Given the description of an element on the screen output the (x, y) to click on. 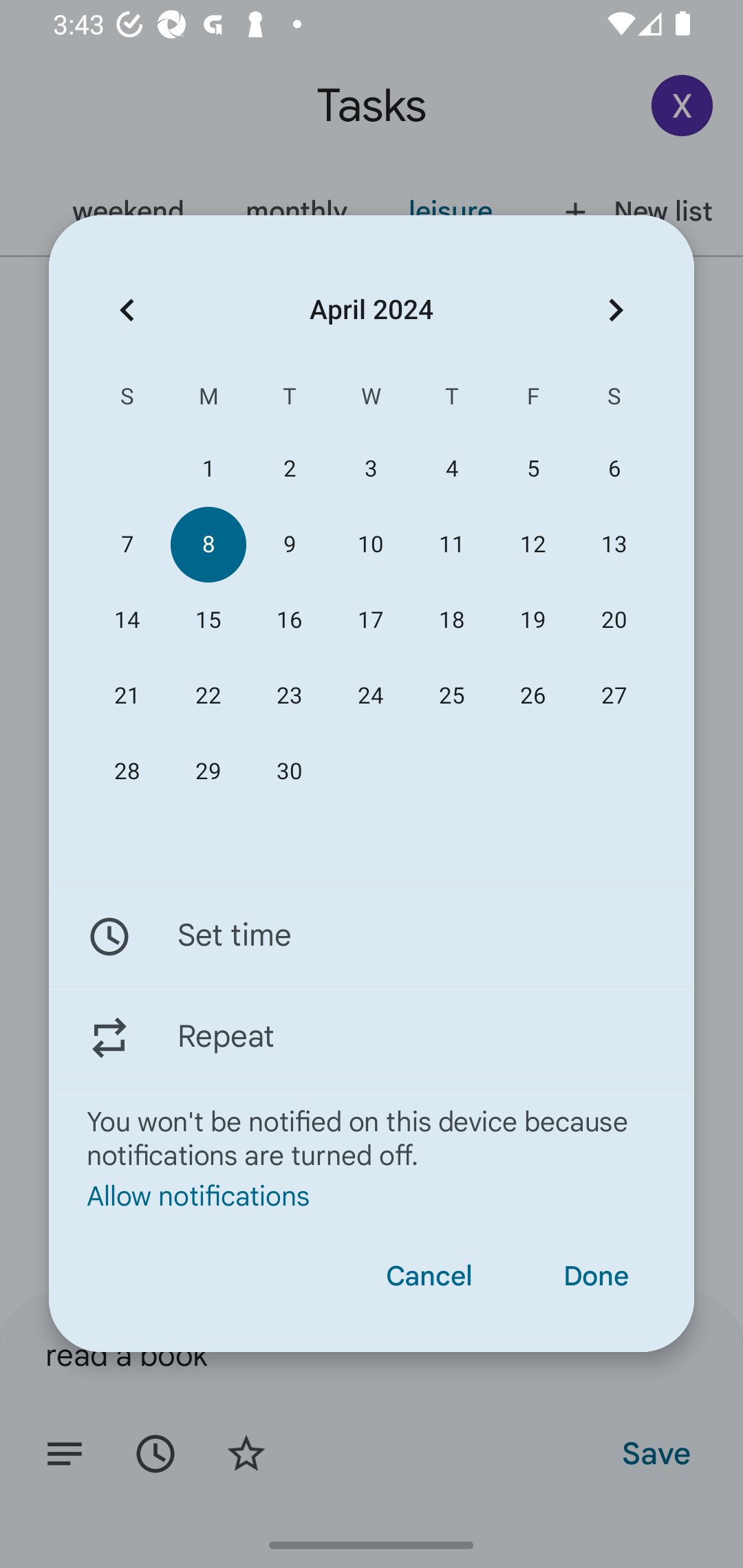
Previous month (126, 309)
Next month (615, 309)
1 01 April 2024 (207, 468)
2 02 April 2024 (288, 468)
3 03 April 2024 (370, 468)
4 04 April 2024 (451, 468)
5 05 April 2024 (532, 468)
6 06 April 2024 (613, 468)
7 07 April 2024 (126, 543)
8 08 April 2024 (207, 543)
9 09 April 2024 (288, 543)
10 10 April 2024 (370, 543)
11 11 April 2024 (451, 543)
12 12 April 2024 (532, 543)
13 13 April 2024 (613, 543)
14 14 April 2024 (126, 619)
15 15 April 2024 (207, 619)
16 16 April 2024 (288, 619)
17 17 April 2024 (370, 619)
18 18 April 2024 (451, 619)
19 19 April 2024 (532, 619)
20 20 April 2024 (613, 619)
21 21 April 2024 (126, 695)
22 22 April 2024 (207, 695)
23 23 April 2024 (288, 695)
24 24 April 2024 (370, 695)
25 25 April 2024 (451, 695)
26 26 April 2024 (532, 695)
27 27 April 2024 (613, 695)
28 28 April 2024 (126, 771)
29 29 April 2024 (207, 771)
30 30 April 2024 (288, 771)
Set time (371, 936)
Repeat (371, 1036)
Allow notifications (371, 1195)
Cancel (429, 1275)
Done (595, 1275)
